Given the description of an element on the screen output the (x, y) to click on. 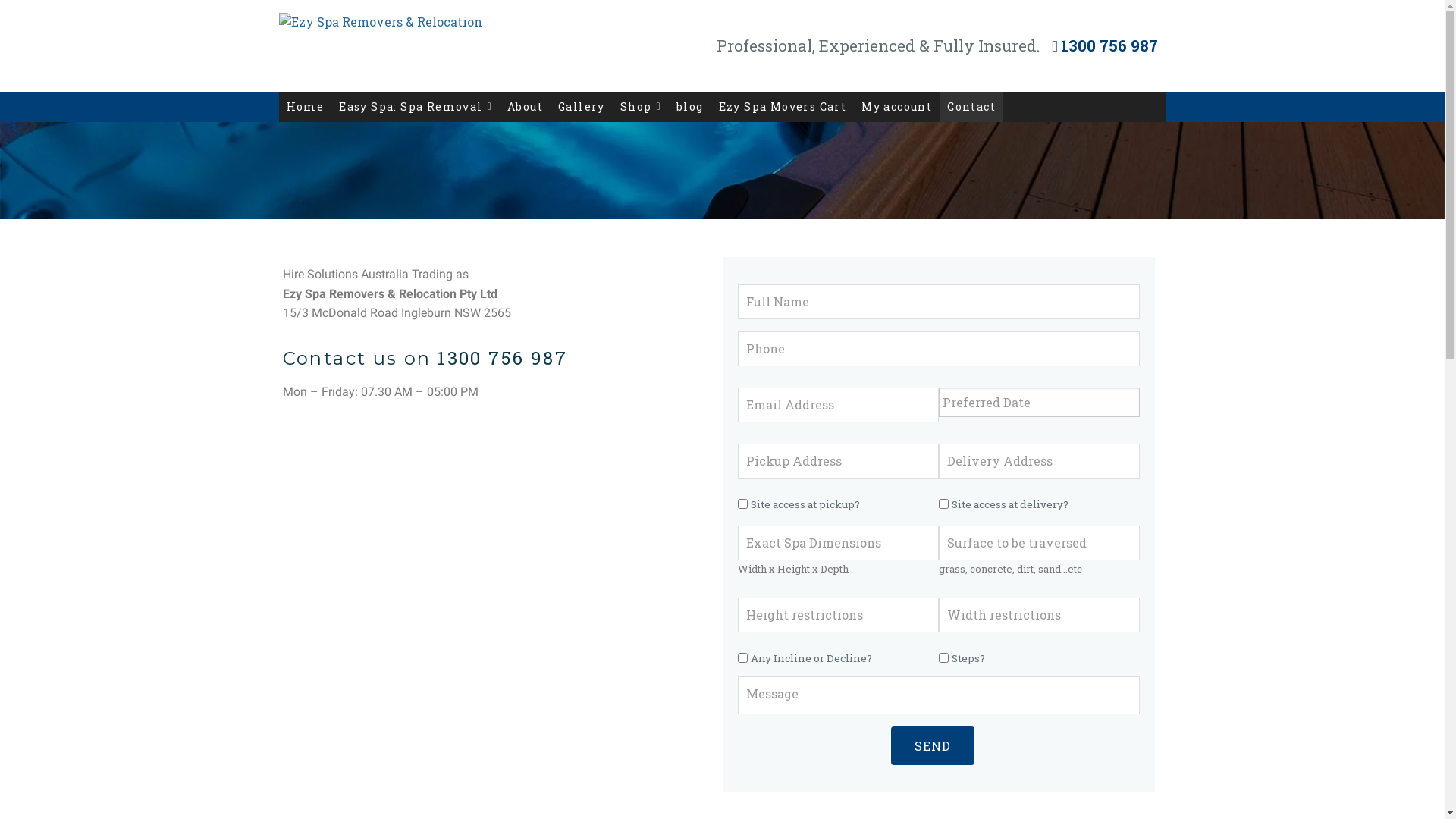
Contact Element type: text (971, 106)
Send Element type: text (931, 745)
1300 756 987 Element type: text (1105, 45)
Ezy Spa Movers Cart Element type: text (782, 106)
Gallery Element type: text (581, 106)
Home Element type: text (305, 106)
My account Element type: text (896, 106)
blog Element type: text (689, 106)
Shop Element type: text (640, 106)
Easy Spa: Spa Removal Element type: text (415, 106)
About Element type: text (524, 106)
1300 756 987 Element type: text (502, 357)
